Given the description of an element on the screen output the (x, y) to click on. 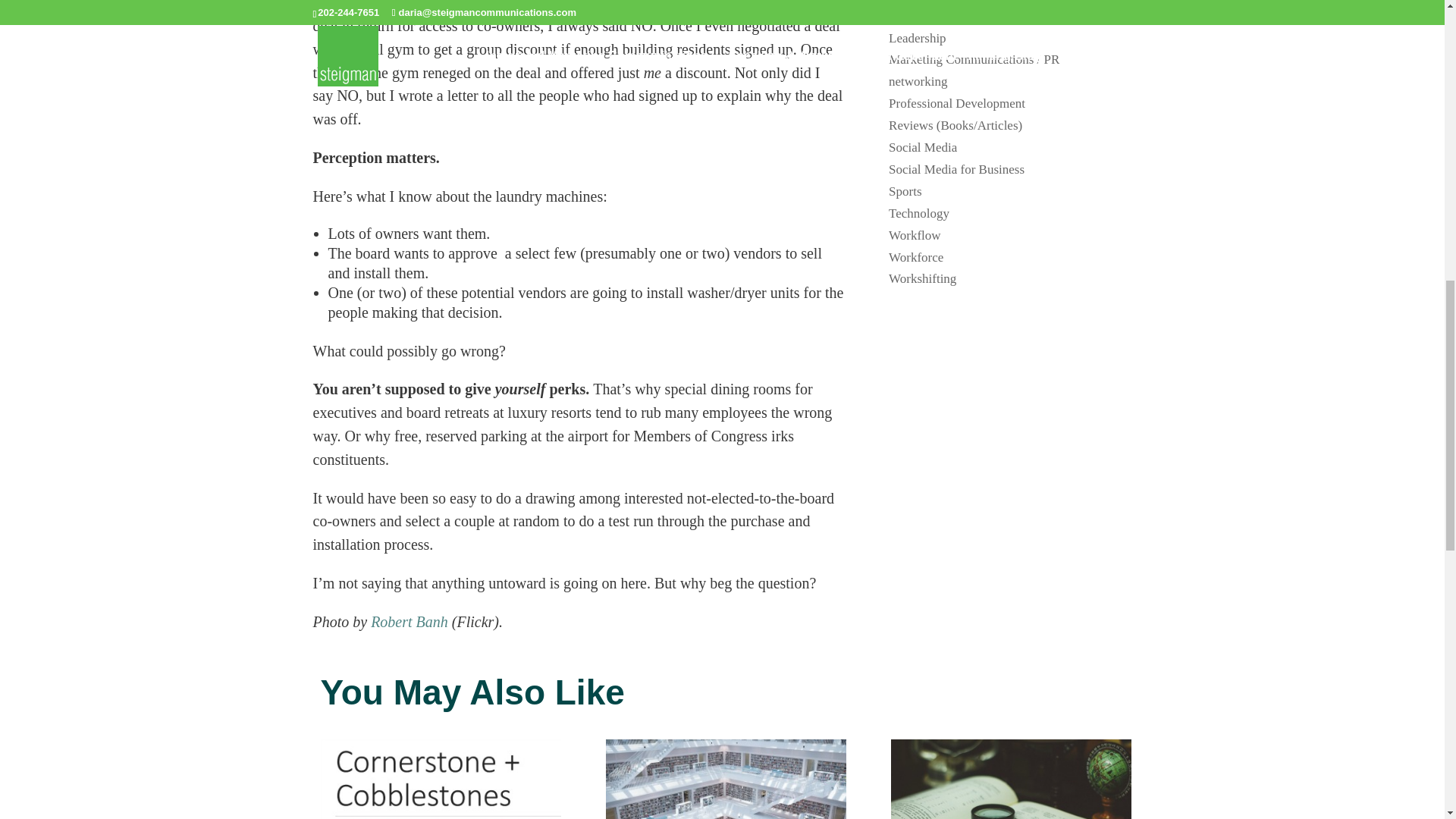
photo credit (409, 621)
Social Media for Business (956, 169)
Leadership (917, 38)
networking (917, 81)
Workforce (915, 257)
Technology (918, 213)
innovation (915, 16)
Workflow (914, 235)
Professional Development (956, 103)
Social Media (922, 147)
Independent Thinking (945, 0)
Sports (904, 191)
Robert Banh (409, 621)
